Given the description of an element on the screen output the (x, y) to click on. 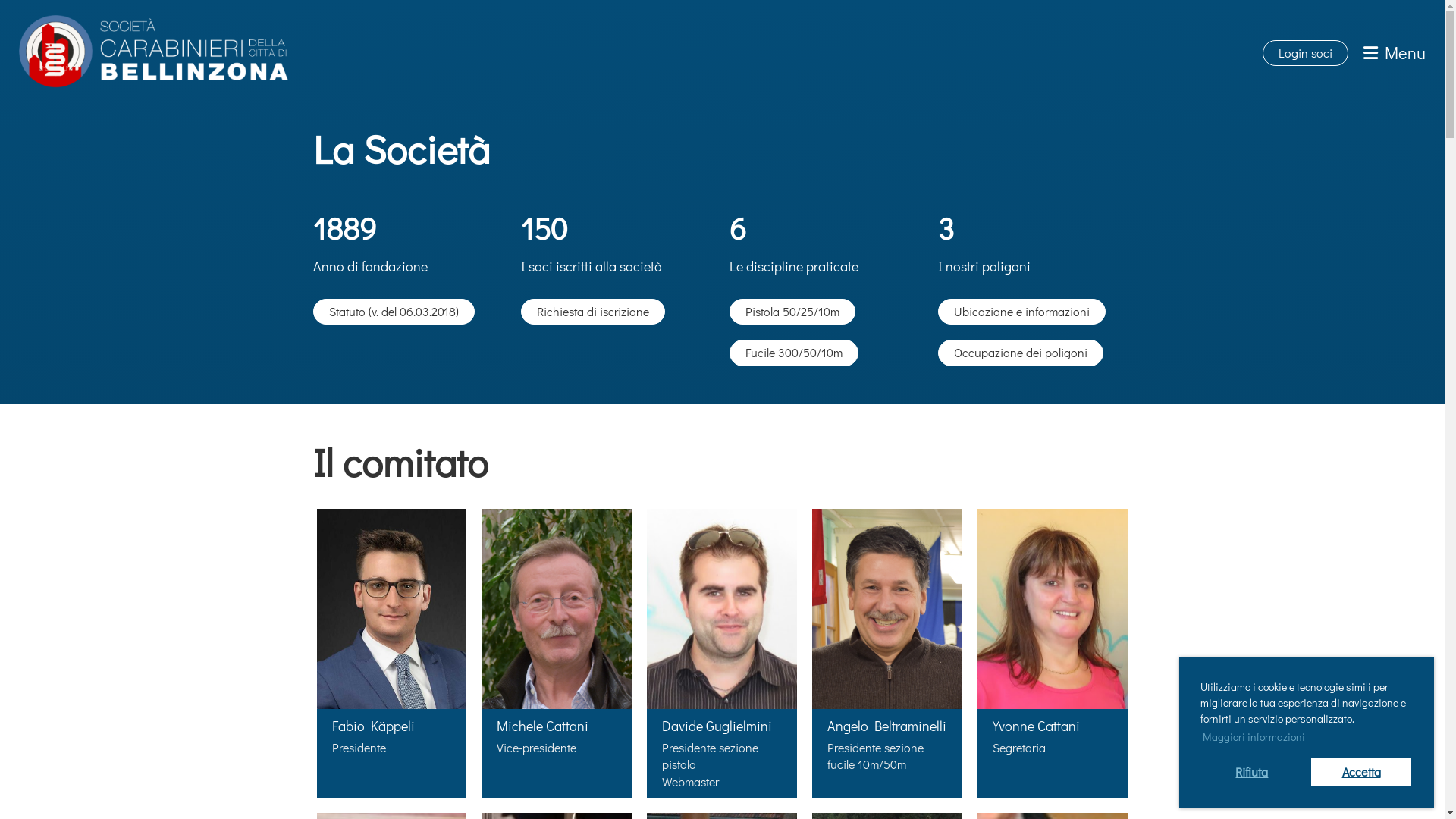
Rifiuta Element type: text (1251, 771)
Maggiori informazioni Element type: text (1253, 736)
Fucile 300/50/10m Element type: text (793, 352)
Richiesta di iscrizione Element type: text (592, 311)
Login soci Element type: text (1305, 52)
Ubicazione e informazioni Element type: text (1021, 311)
Statuto (v. del 06.03.2018) Element type: text (392, 311)
Menu Element type: text (1394, 53)
Yvonne Cattani
Segretaria Element type: text (1052, 653)
Michele Cattani
Vice-presidente Element type: text (556, 653)
Accetta Element type: text (1360, 771)
Occupazione dei poligoni Element type: text (1020, 352)
Davide Guglielmini
Presidente sezione pistola
Webmaster Element type: text (721, 653)
Pistola 50/25/10m Element type: text (792, 311)
Angelo Beltraminelli
Presidente sezione fucile 10m/50m Element type: text (887, 653)
